Given the description of an element on the screen output the (x, y) to click on. 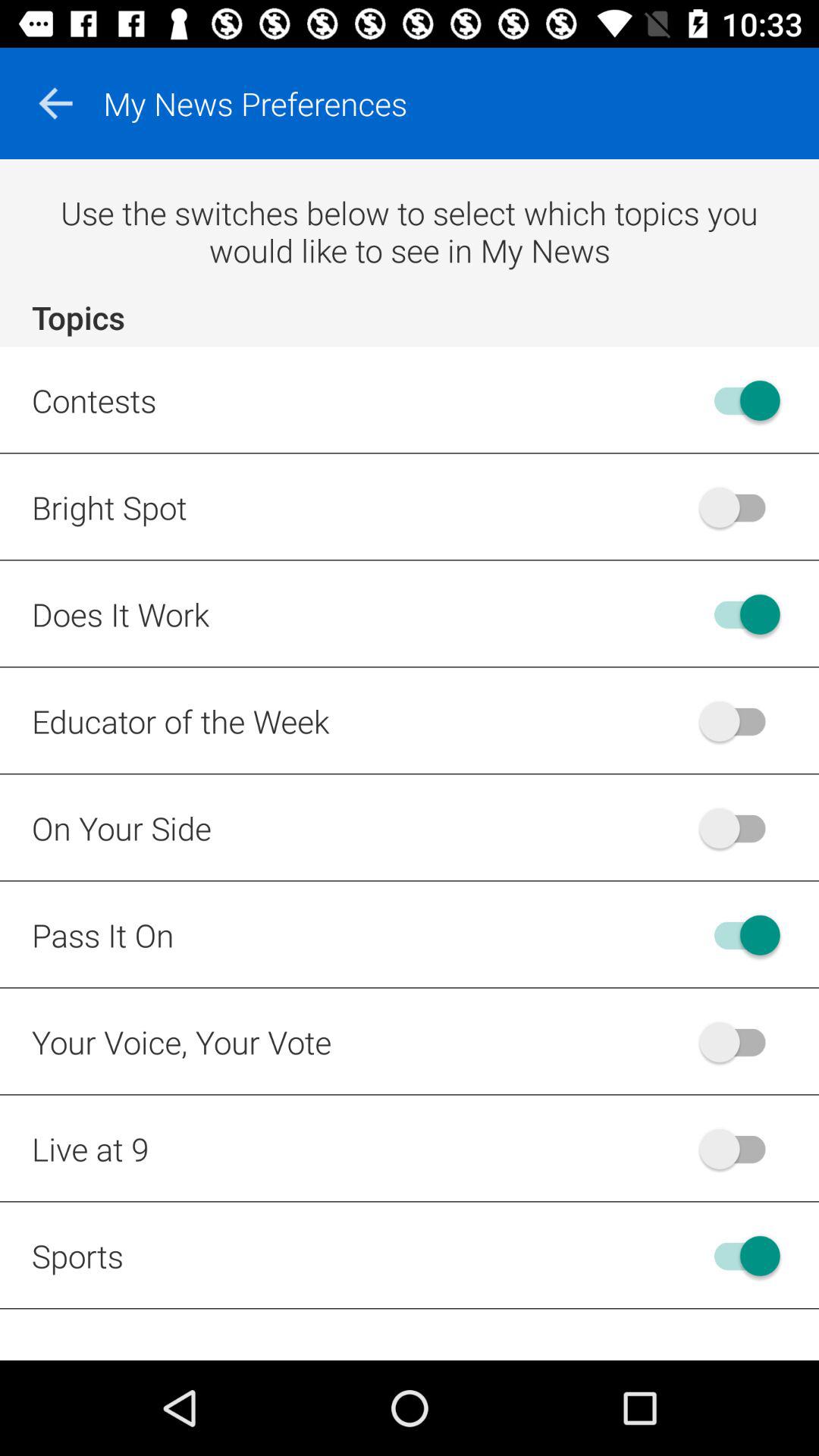
back to my news preferences (55, 103)
